Given the description of an element on the screen output the (x, y) to click on. 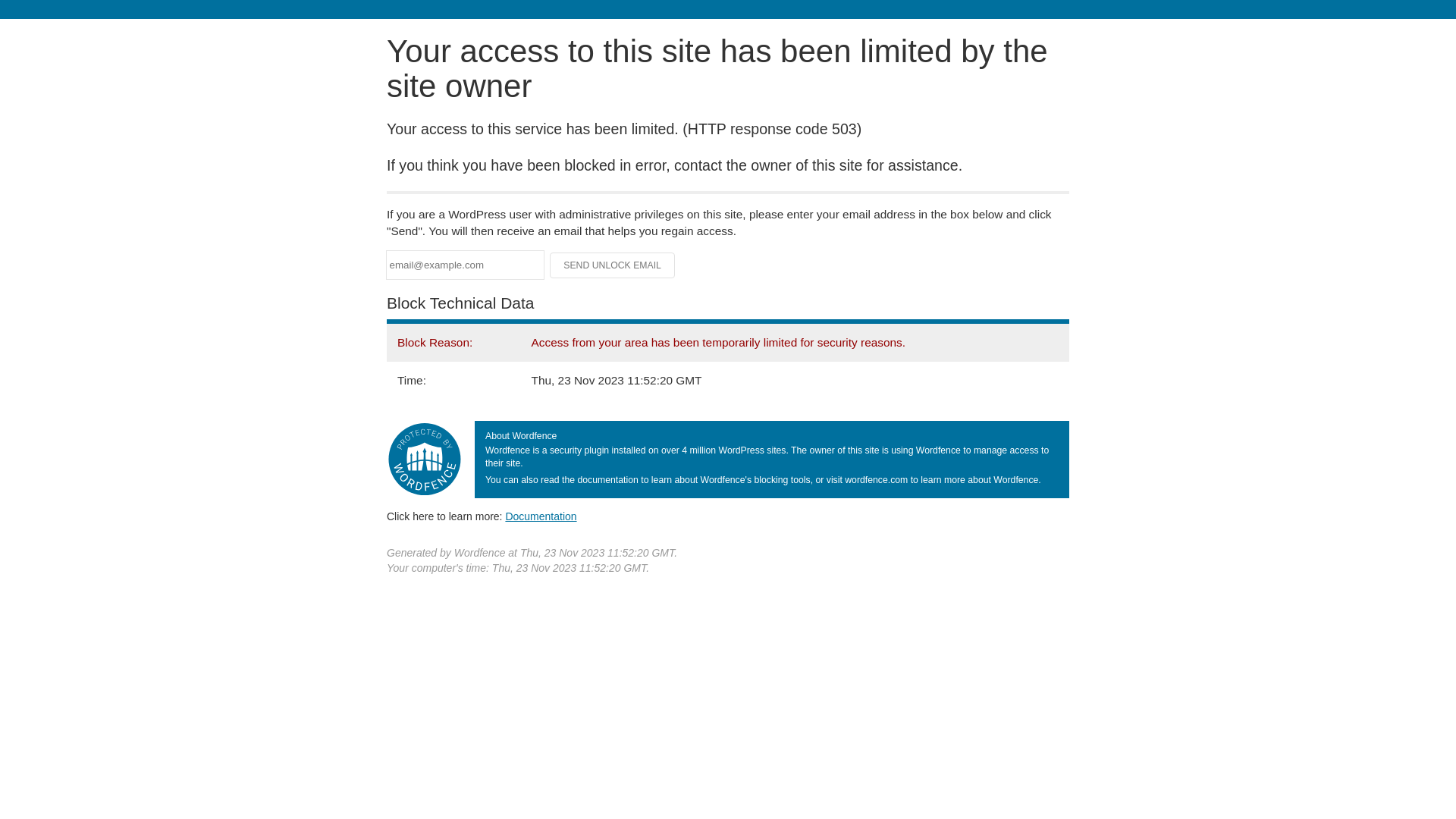
Documentation Element type: text (540, 516)
Send Unlock Email Element type: text (612, 265)
